Given the description of an element on the screen output the (x, y) to click on. 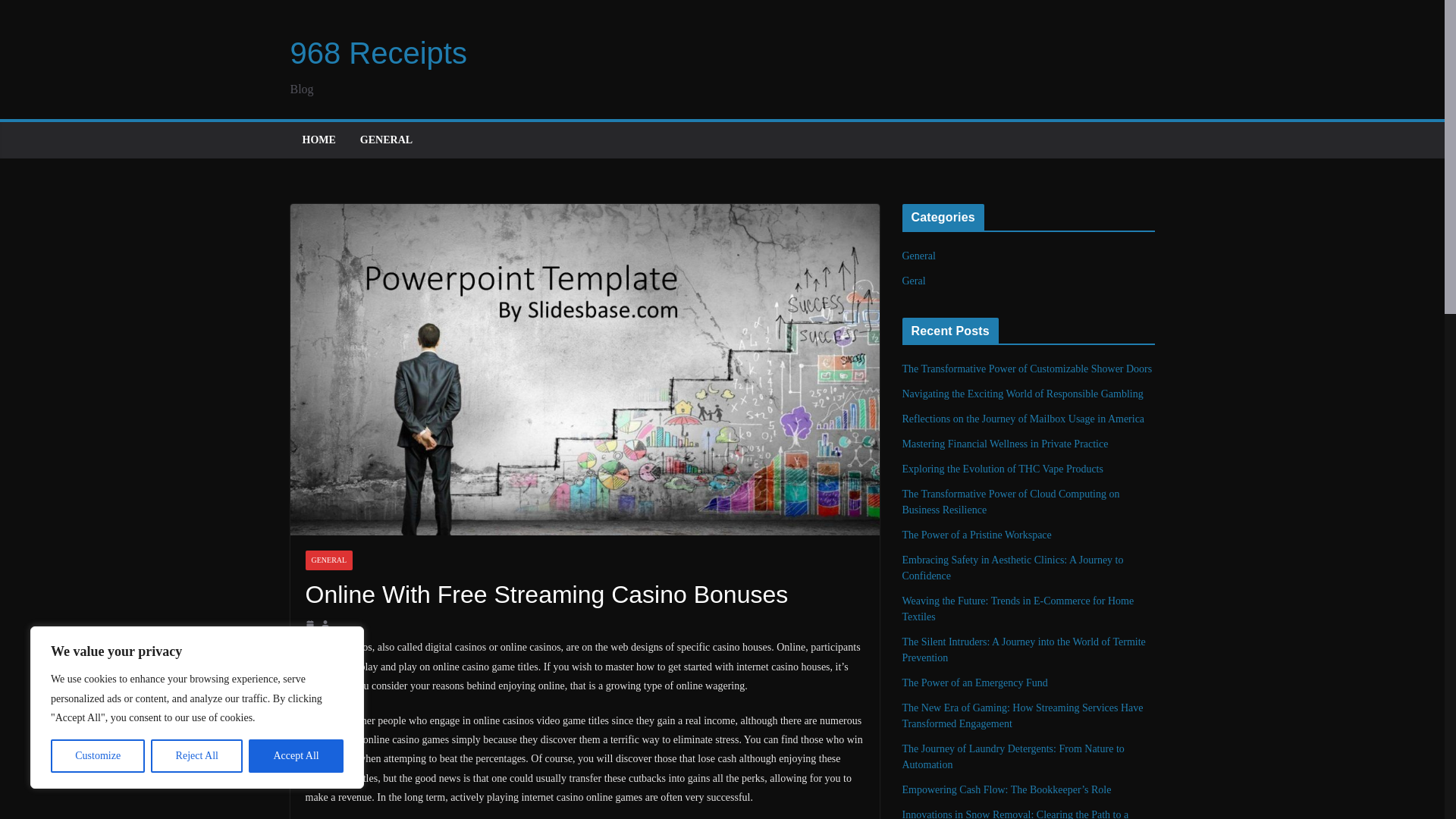
Navigating the Exciting World of Responsible Gambling (1022, 393)
Customize (97, 756)
The Power of a Pristine Workspace (976, 534)
Exploring the Evolution of THC Vape Products (1002, 469)
General (919, 255)
968 Receipts (377, 52)
Reflections on the Journey of Mailbox Usage in America (1023, 419)
Reject All (197, 756)
Mastering Financial Wellness in Private Practice (1005, 443)
